Given the description of an element on the screen output the (x, y) to click on. 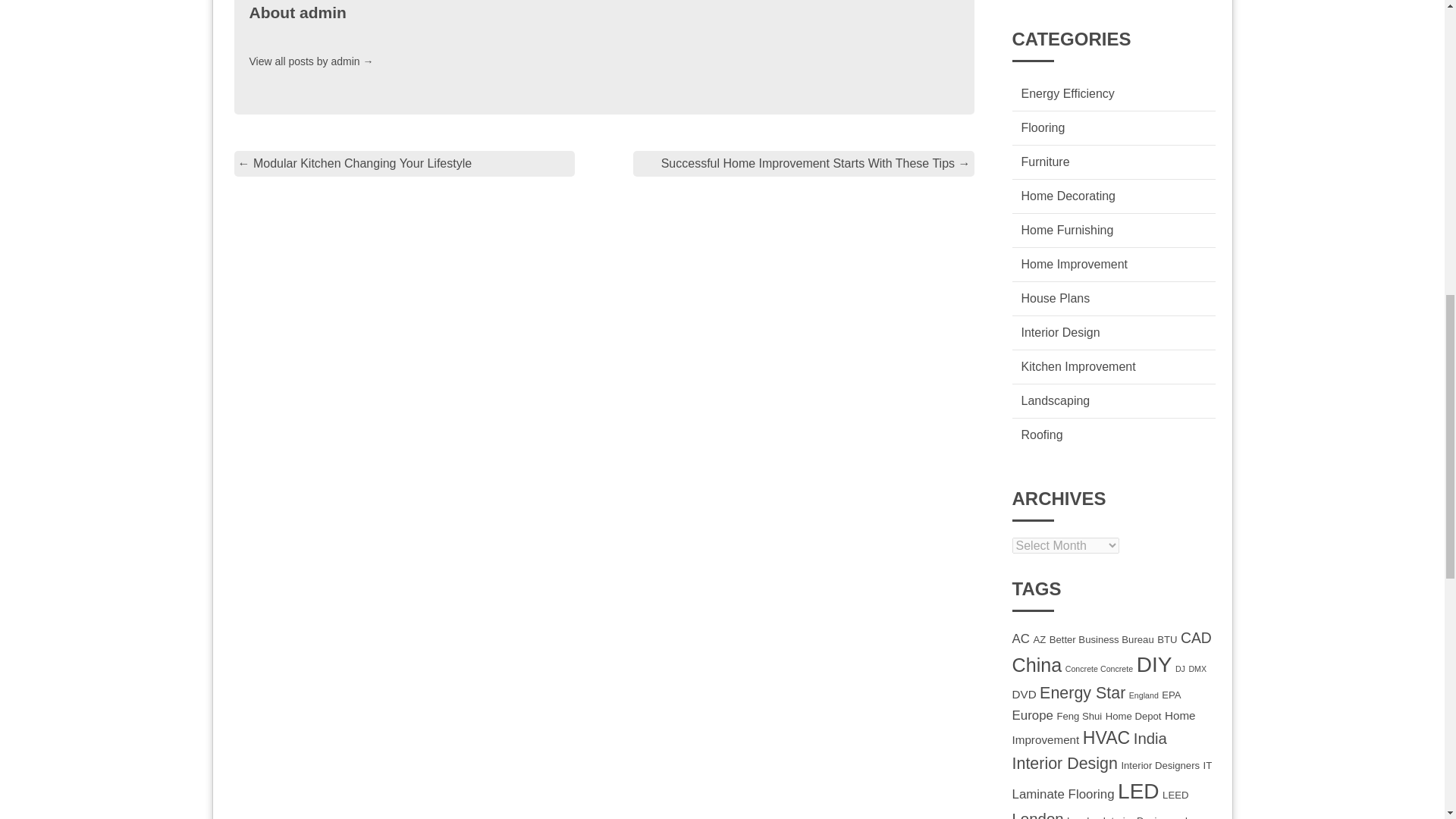
Landscaping (1054, 400)
AZ (1038, 639)
Energy Efficiency (1066, 92)
House Plans (1054, 297)
Flooring (1042, 127)
Home Decorating (1067, 195)
AC (1020, 638)
Interior Design (1059, 332)
Home Furnishing (1066, 229)
Kitchen Improvement (1077, 366)
Roofing (1041, 434)
Furniture (1044, 161)
Home Improvement (1073, 264)
Better Business Bureau (1101, 639)
